Given the description of an element on the screen output the (x, y) to click on. 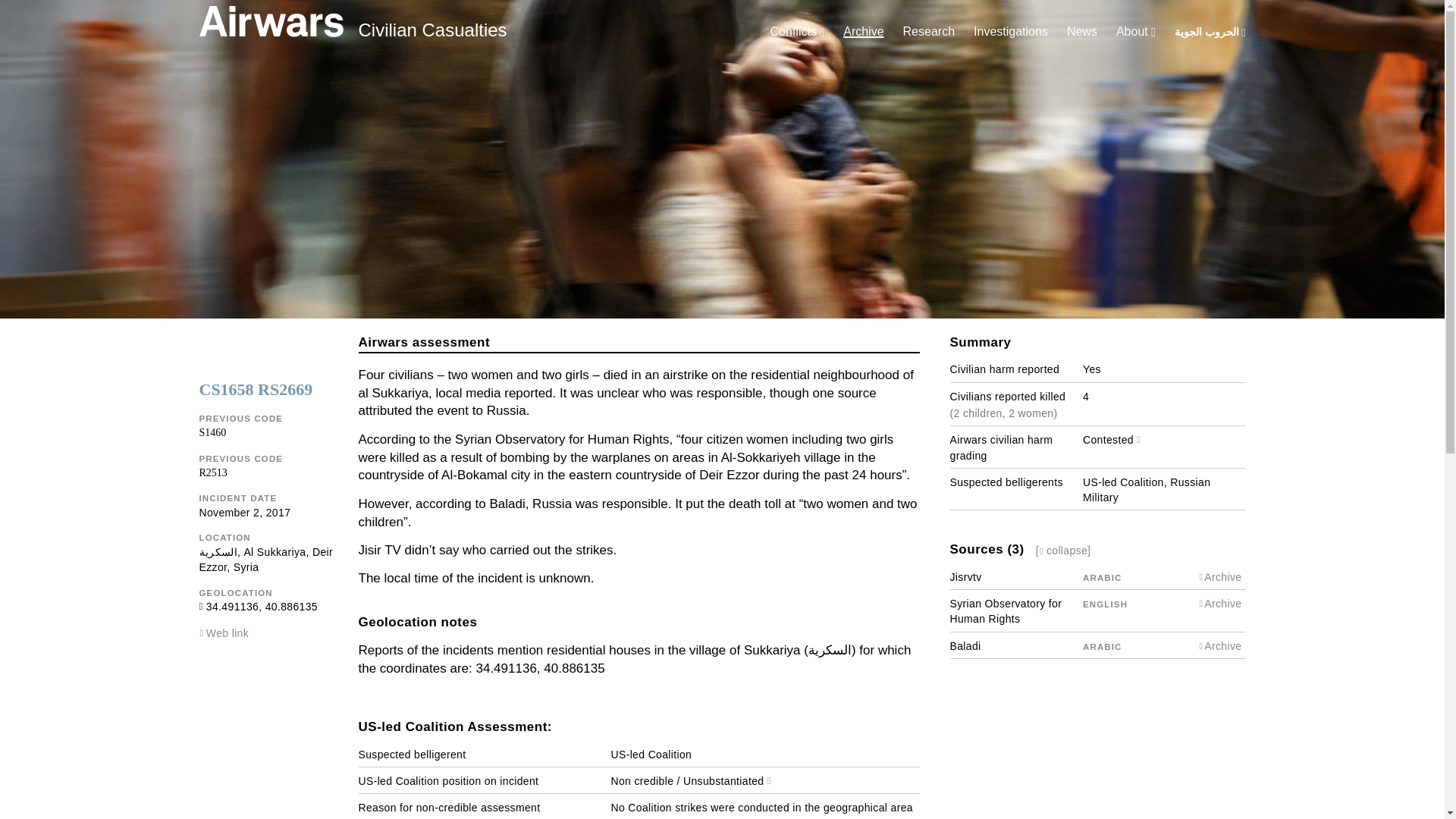
News (1082, 31)
Research (928, 31)
Investigations (1011, 31)
Web link (227, 633)
Archive (863, 31)
